Given the description of an element on the screen output the (x, y) to click on. 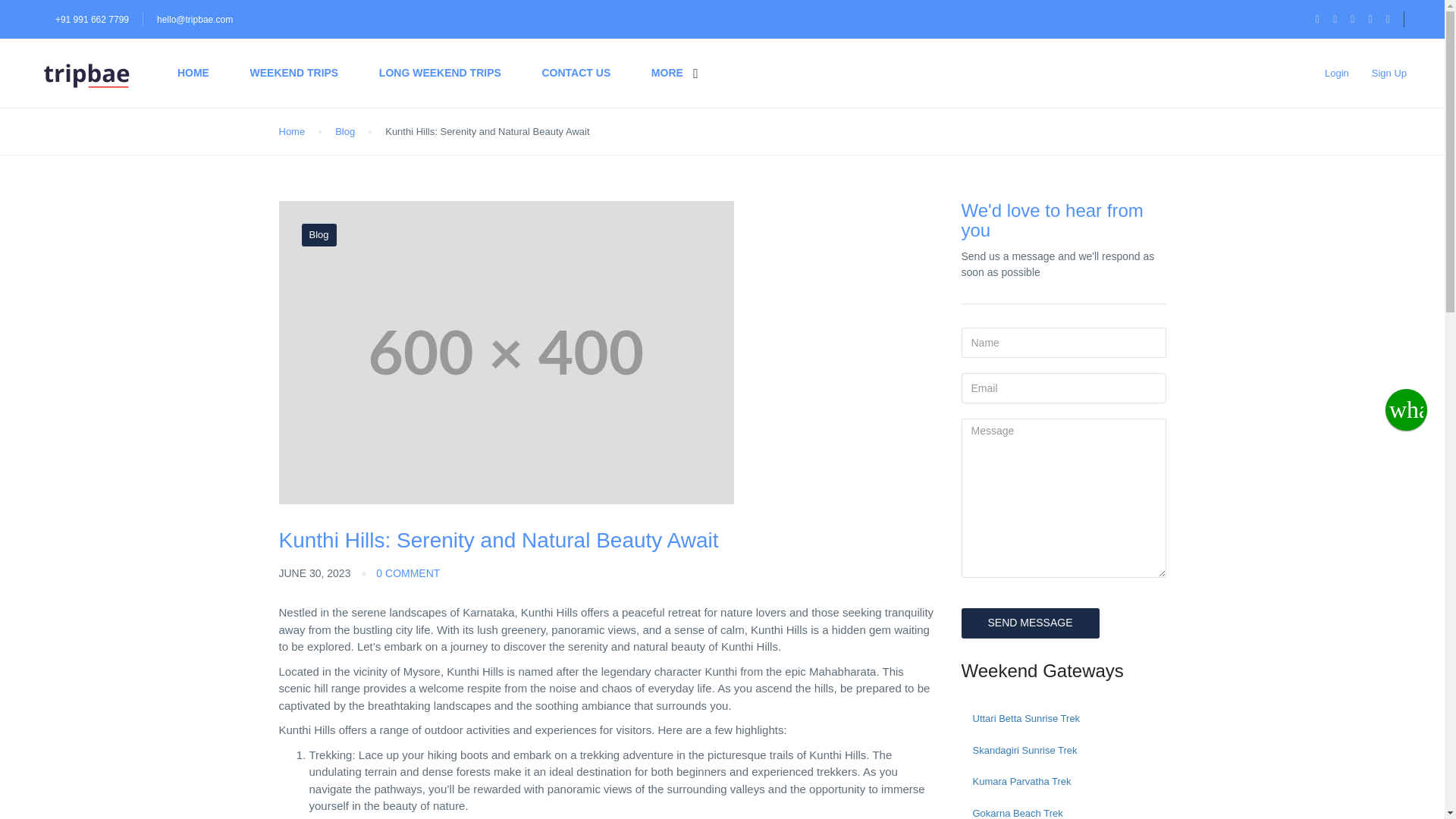
Skandagiri Sunrise Trek (1063, 750)
SEND MESSAGE (1029, 623)
Kumara Parvatha Trek (1063, 781)
SEND MESSAGE (1029, 623)
Blog (318, 234)
Sign Up (1388, 72)
MORE (666, 72)
LONG WEEKEND TRIPS (439, 72)
CONTACT US (575, 72)
Gokarna Beach Trek (1063, 808)
Uttari Betta Sunrise Trek (1063, 718)
HOME (193, 72)
WEEKEND TRIPS (294, 72)
Blog (344, 131)
Home (292, 131)
